Given the description of an element on the screen output the (x, y) to click on. 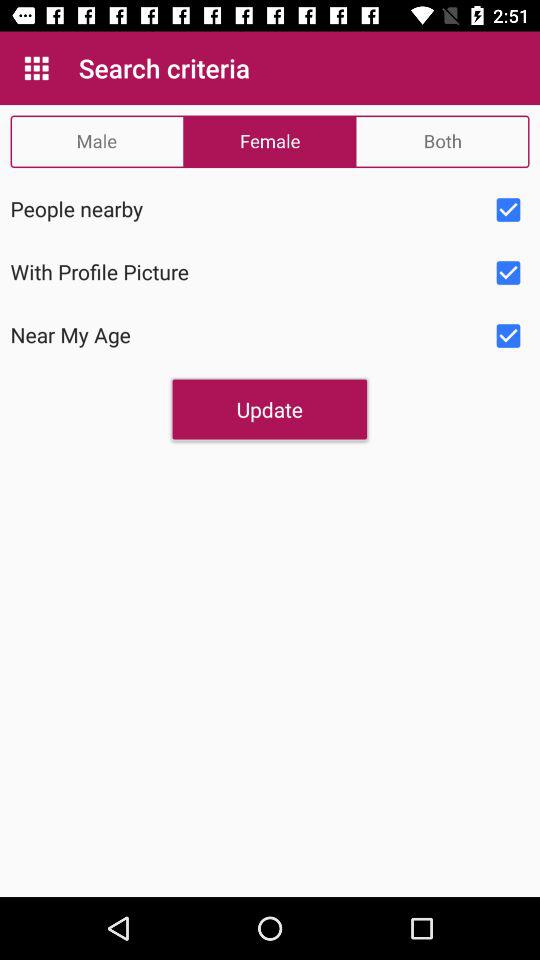
go to tik button (508, 336)
